Given the description of an element on the screen output the (x, y) to click on. 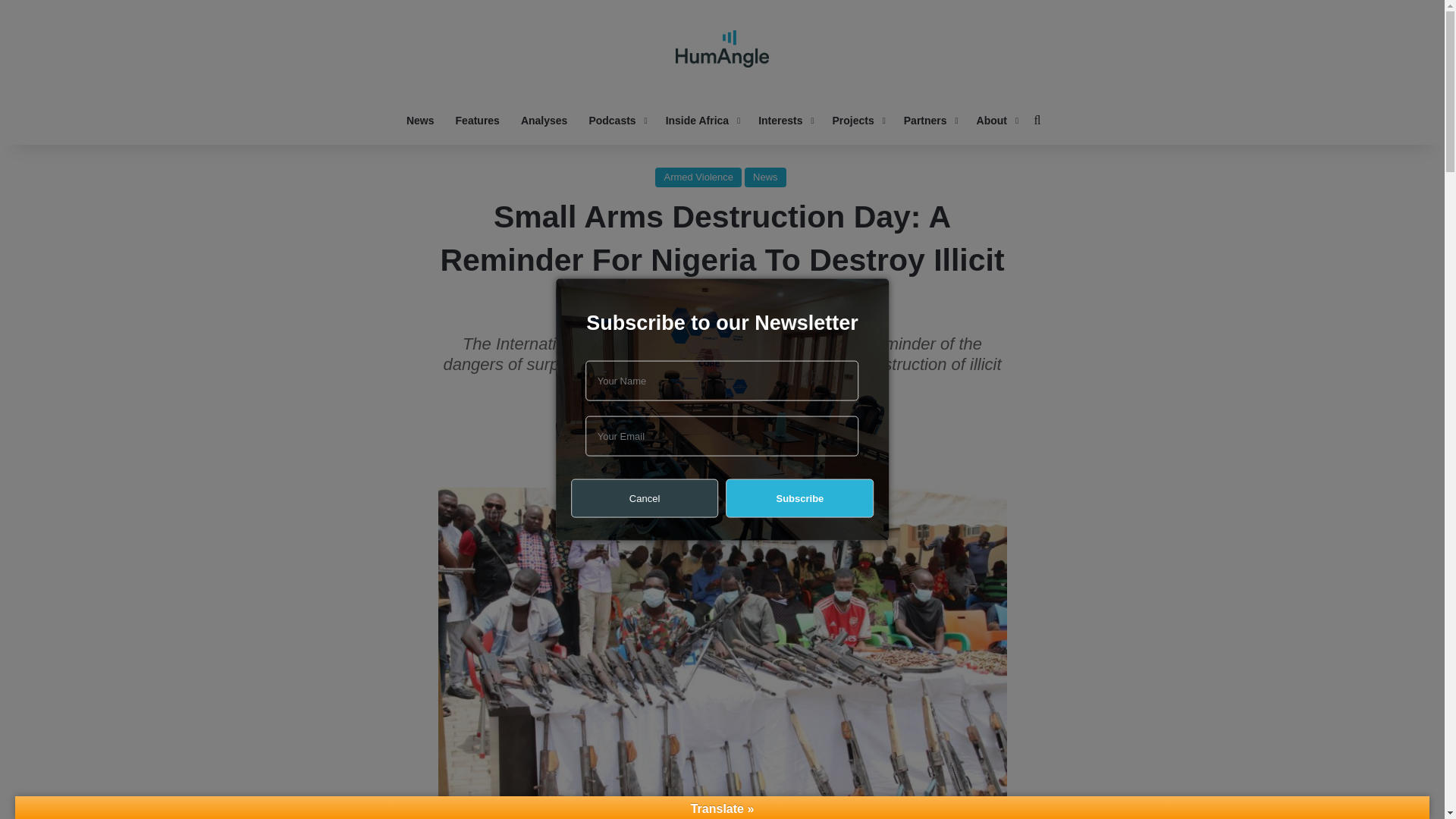
Analyses (544, 120)
Interests (784, 120)
Inside Africa (701, 120)
Facebook (686, 457)
Podcasts (615, 120)
HumAngle (721, 48)
Murtala Abdullahi (690, 415)
News (420, 120)
Features (478, 120)
LinkedIn (757, 457)
X (721, 457)
